Given the description of an element on the screen output the (x, y) to click on. 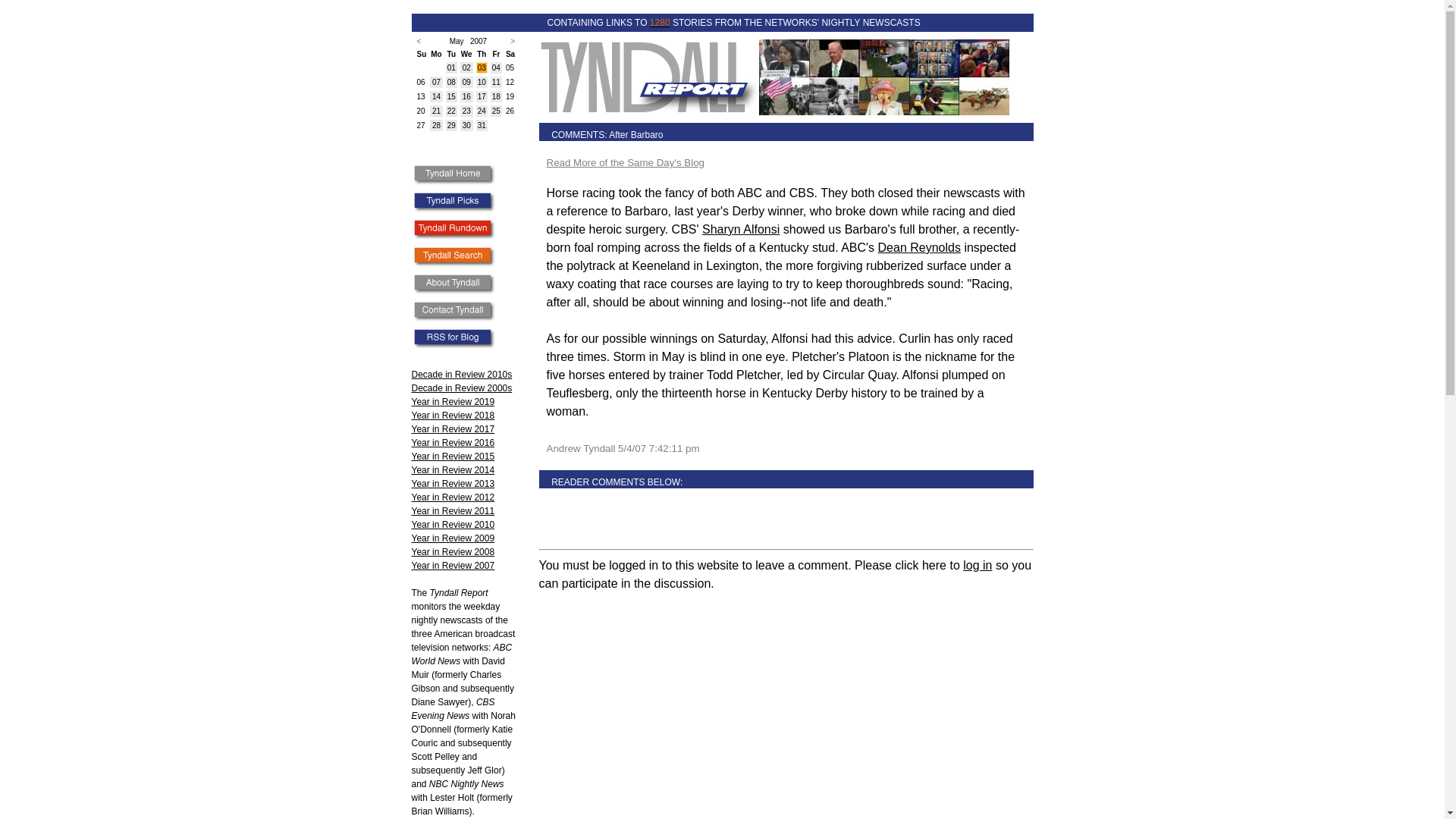
14 (436, 96)
18 (496, 96)
24 (481, 111)
09 (466, 81)
10 (481, 81)
08 (450, 81)
22 (450, 111)
01 (450, 67)
28 (436, 125)
11 (496, 81)
16 (466, 96)
Read More of the Same Day's Blog (625, 162)
04 (496, 67)
02 (466, 67)
Sharyn Alfonsi (739, 228)
